Given the description of an element on the screen output the (x, y) to click on. 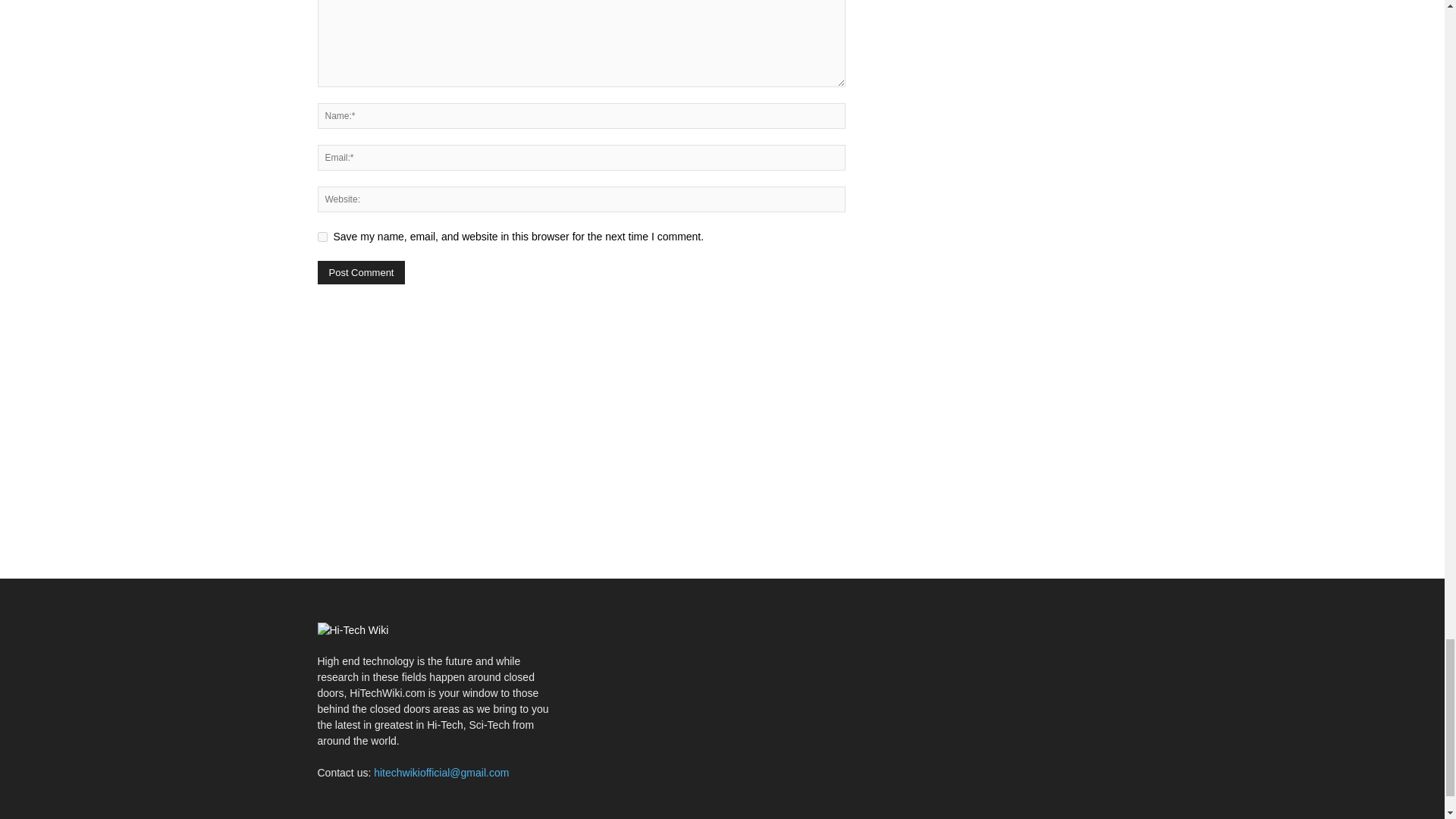
Post Comment (360, 272)
yes (321, 236)
